Given the description of an element on the screen output the (x, y) to click on. 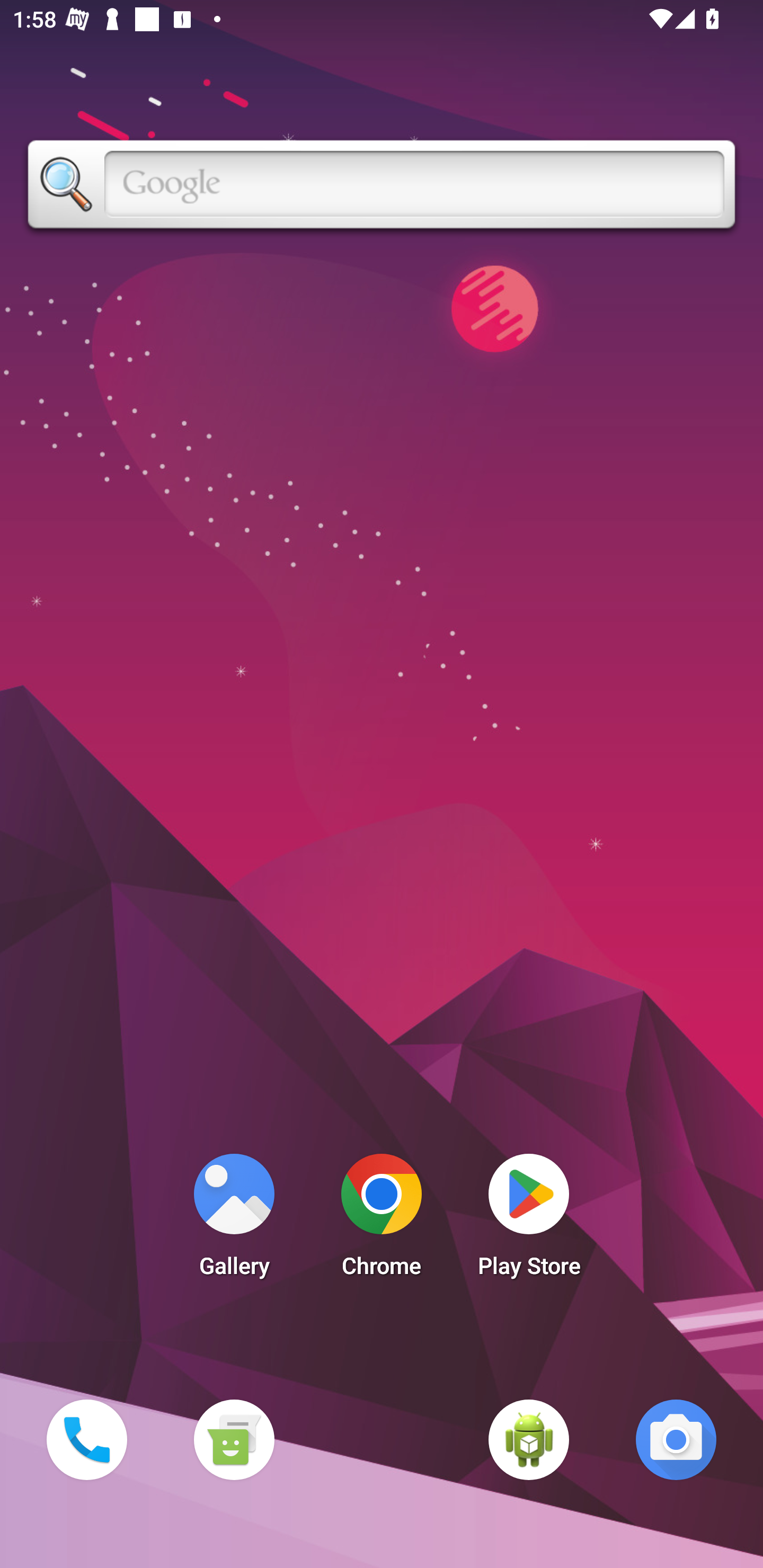
Gallery (233, 1220)
Chrome (381, 1220)
Play Store (528, 1220)
Phone (86, 1439)
Messaging (233, 1439)
WebView Browser Tester (528, 1439)
Camera (676, 1439)
